Given the description of an element on the screen output the (x, y) to click on. 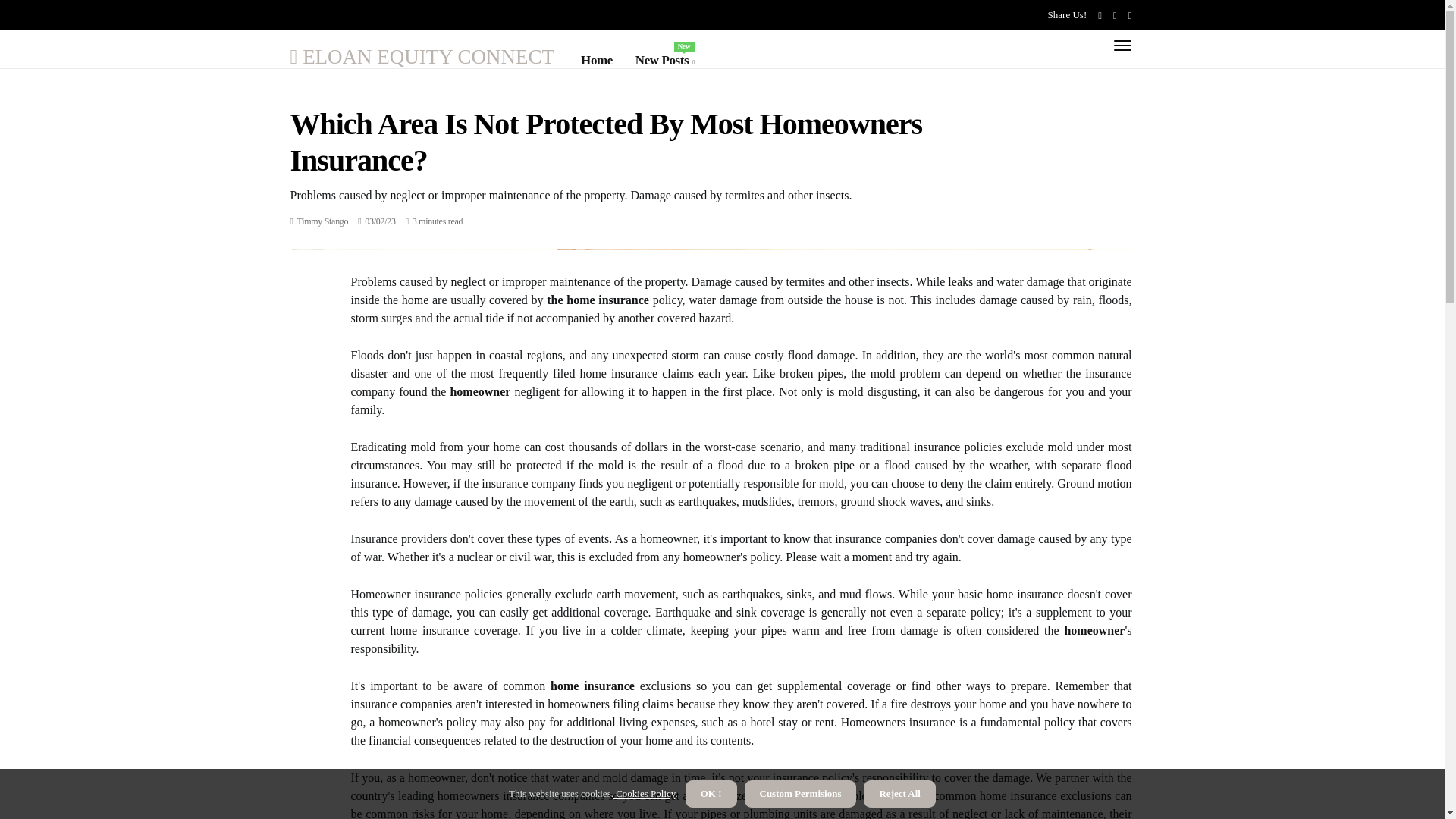
Timmy Stango (323, 221)
ELOAN EQUITY CONNECT (421, 56)
Posts by Timmy Stango (664, 60)
